Given the description of an element on the screen output the (x, y) to click on. 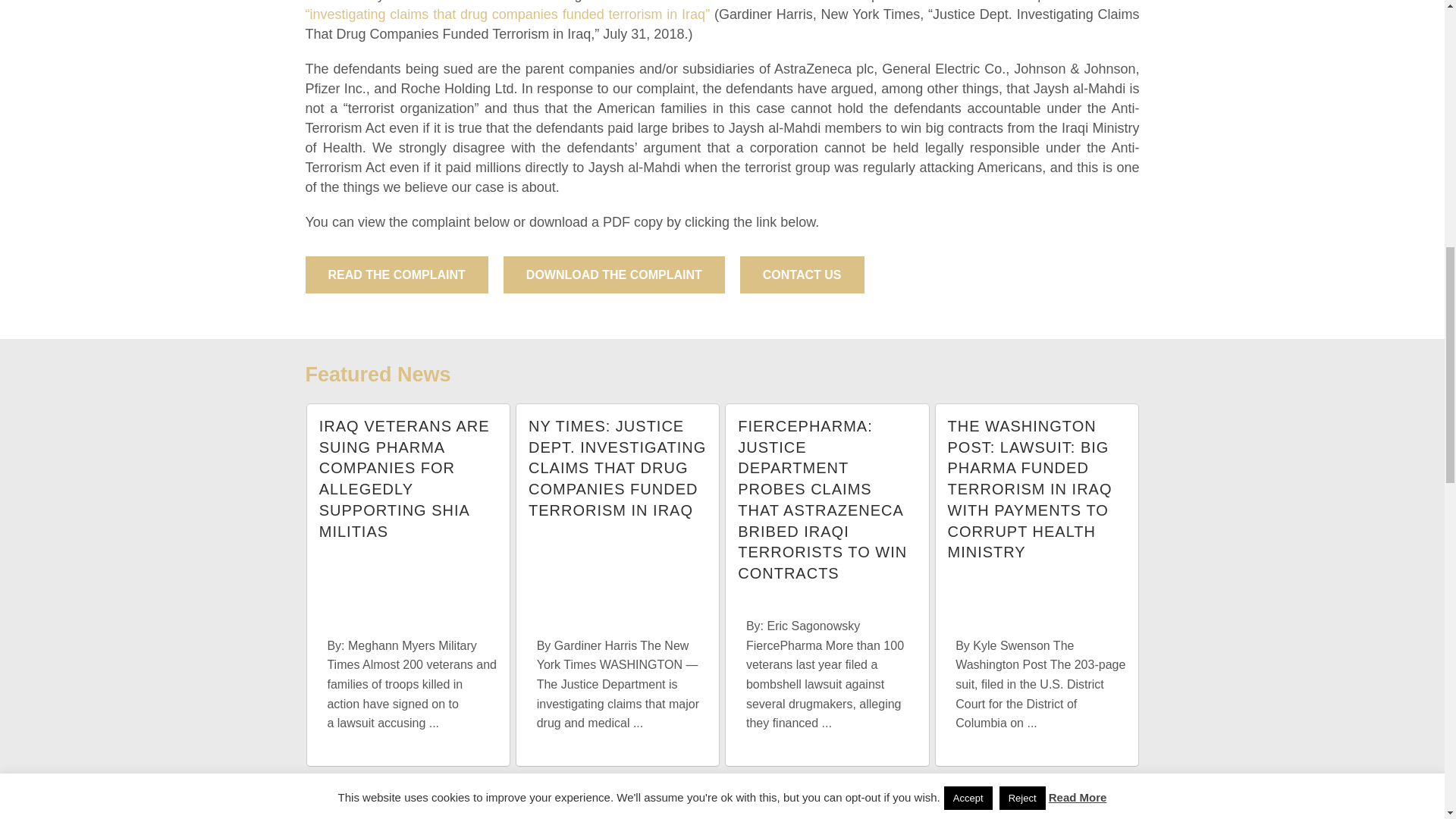
CONTACT US (801, 274)
DOWNLOAD THE COMPLAINT (614, 274)
READ THE COMPLAINT (395, 274)
